Given the description of an element on the screen output the (x, y) to click on. 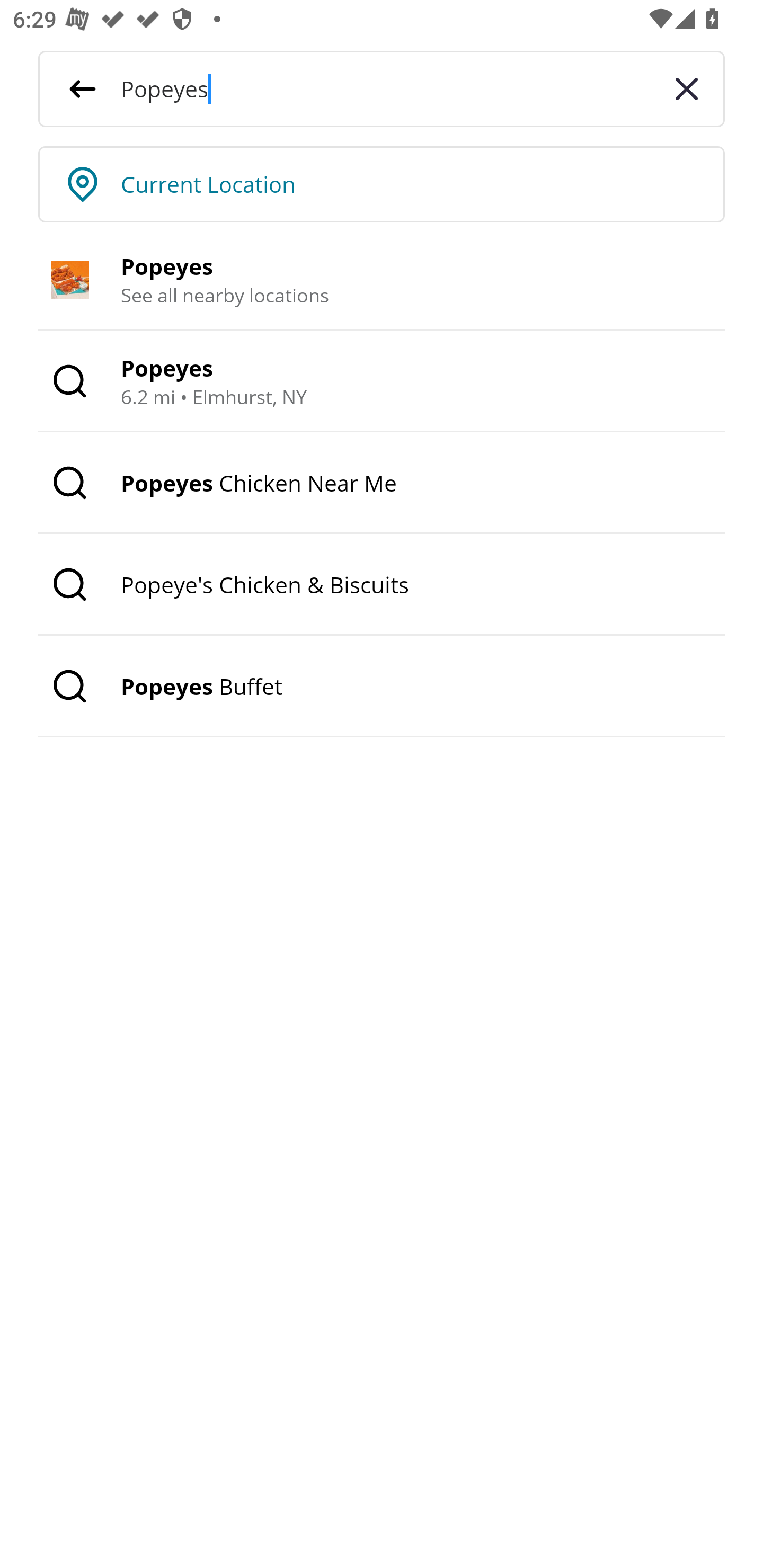
Popeyes See all nearby locations (381, 279)
